Given the description of an element on the screen output the (x, y) to click on. 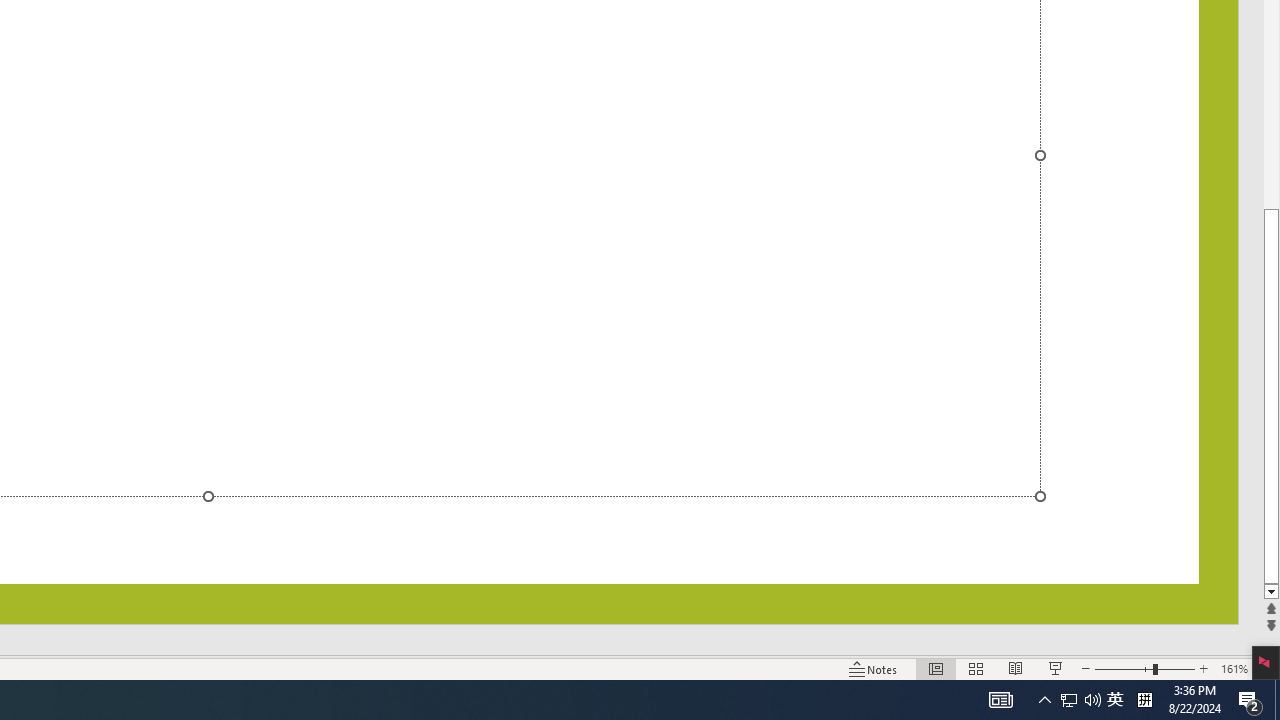
Zoom 161% (1234, 668)
